Given the description of an element on the screen output the (x, y) to click on. 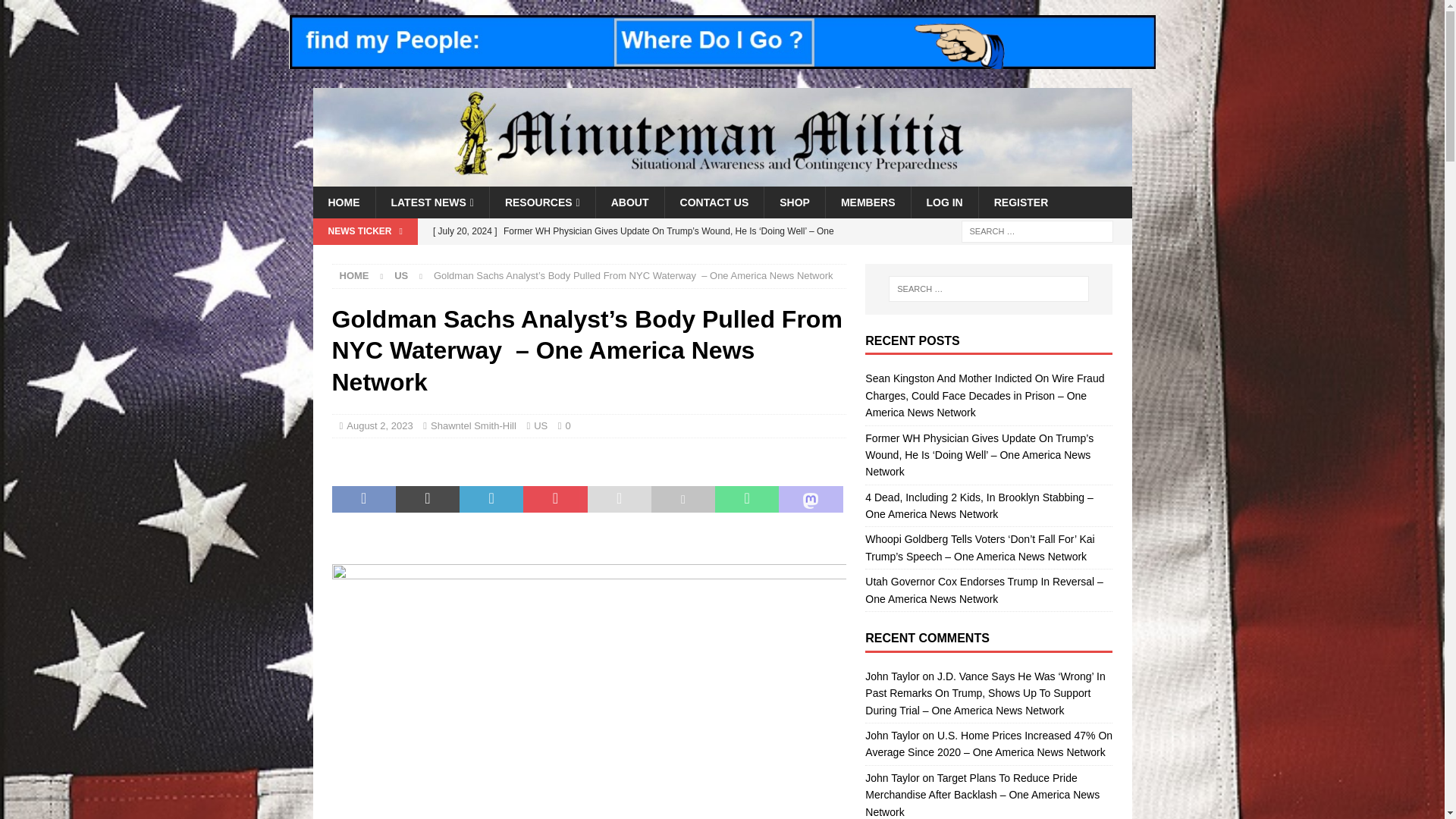
Send this article to a friend (619, 499)
LOG IN (943, 202)
SHOP (793, 202)
ABOUT (629, 202)
Share on LinkedIn (491, 499)
HOME (343, 202)
LATEST NEWS (430, 202)
Home (354, 275)
Pin This Post (554, 499)
US (400, 275)
CONTACT US (713, 202)
Share on Facebook (363, 499)
RESOURCES (542, 202)
Print this article (682, 499)
MEMBERS (868, 202)
